Given the description of an element on the screen output the (x, y) to click on. 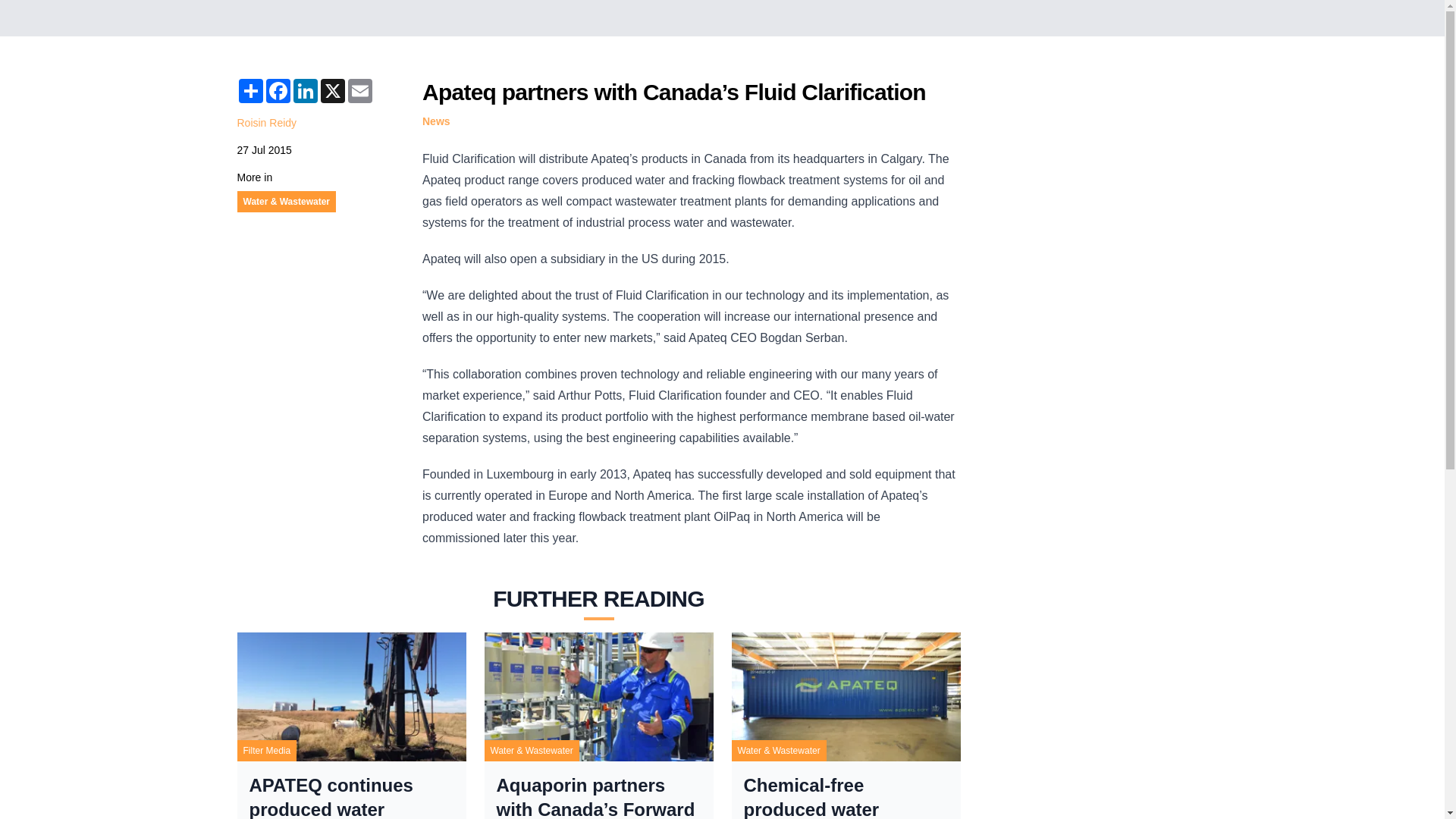
LinkedIn (304, 90)
X (332, 90)
News (435, 121)
Facebook (277, 90)
Email (359, 90)
Roisin Reidy (266, 122)
